Given the description of an element on the screen output the (x, y) to click on. 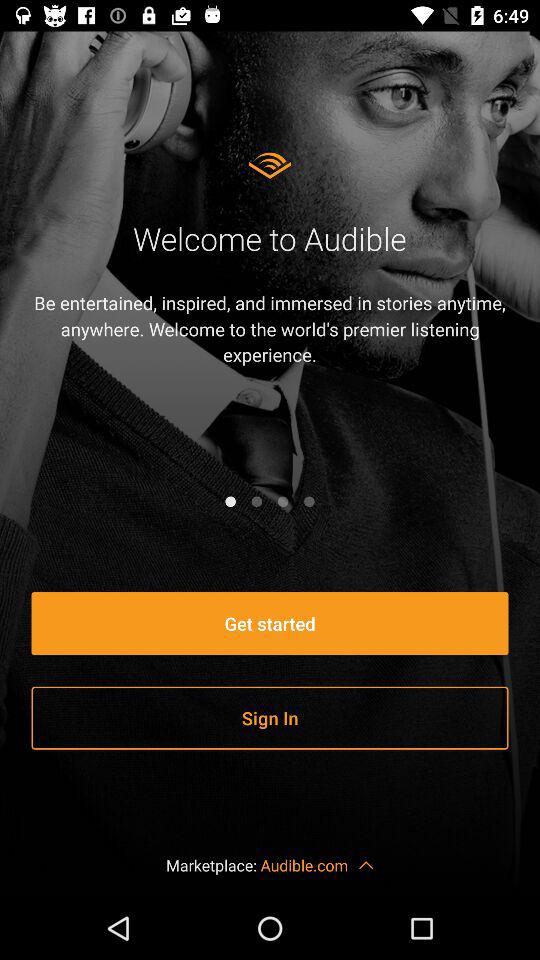
swipe left (283, 501)
